Given the description of an element on the screen output the (x, y) to click on. 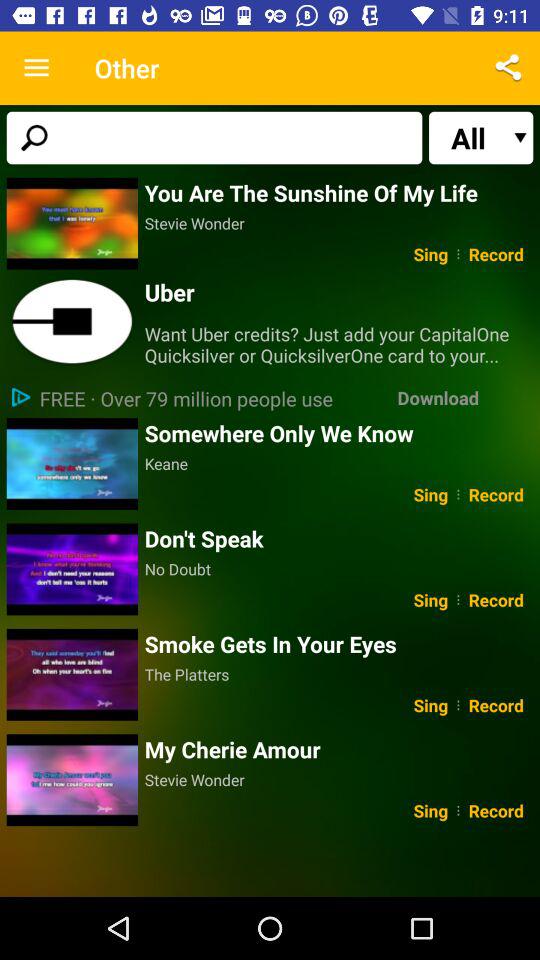
click the icon next to the other icon (36, 68)
